Given the description of an element on the screen output the (x, y) to click on. 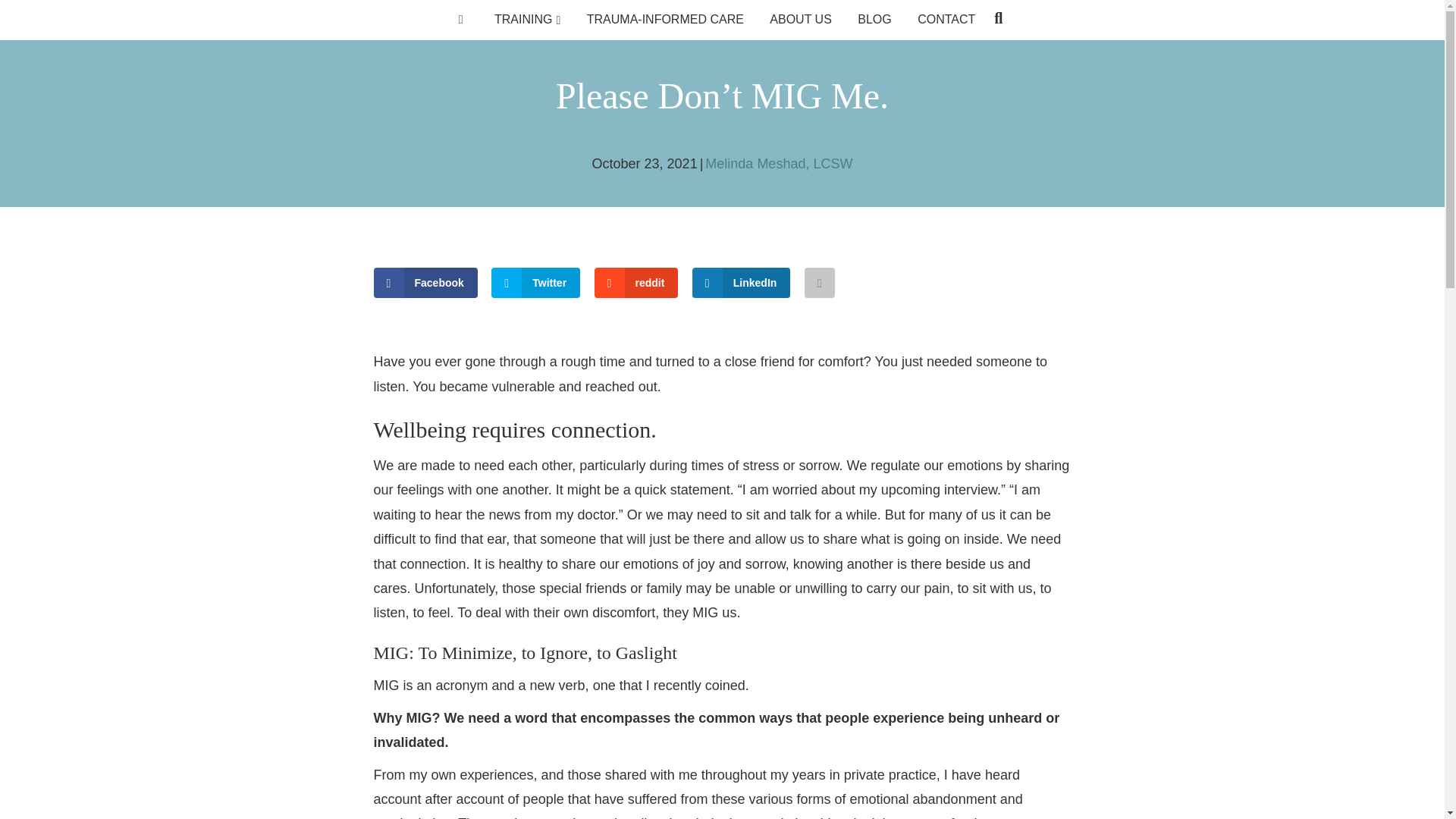
Melinda Meshad, LCSW (777, 163)
CONTACT (946, 19)
TRAUMA-INFORMED CARE (665, 19)
BLOG (873, 19)
LinkedIn (741, 282)
TRAINING (527, 20)
Twitter (535, 282)
reddit (636, 282)
Facebook (424, 282)
ABOUT US (800, 19)
